Given the description of an element on the screen output the (x, y) to click on. 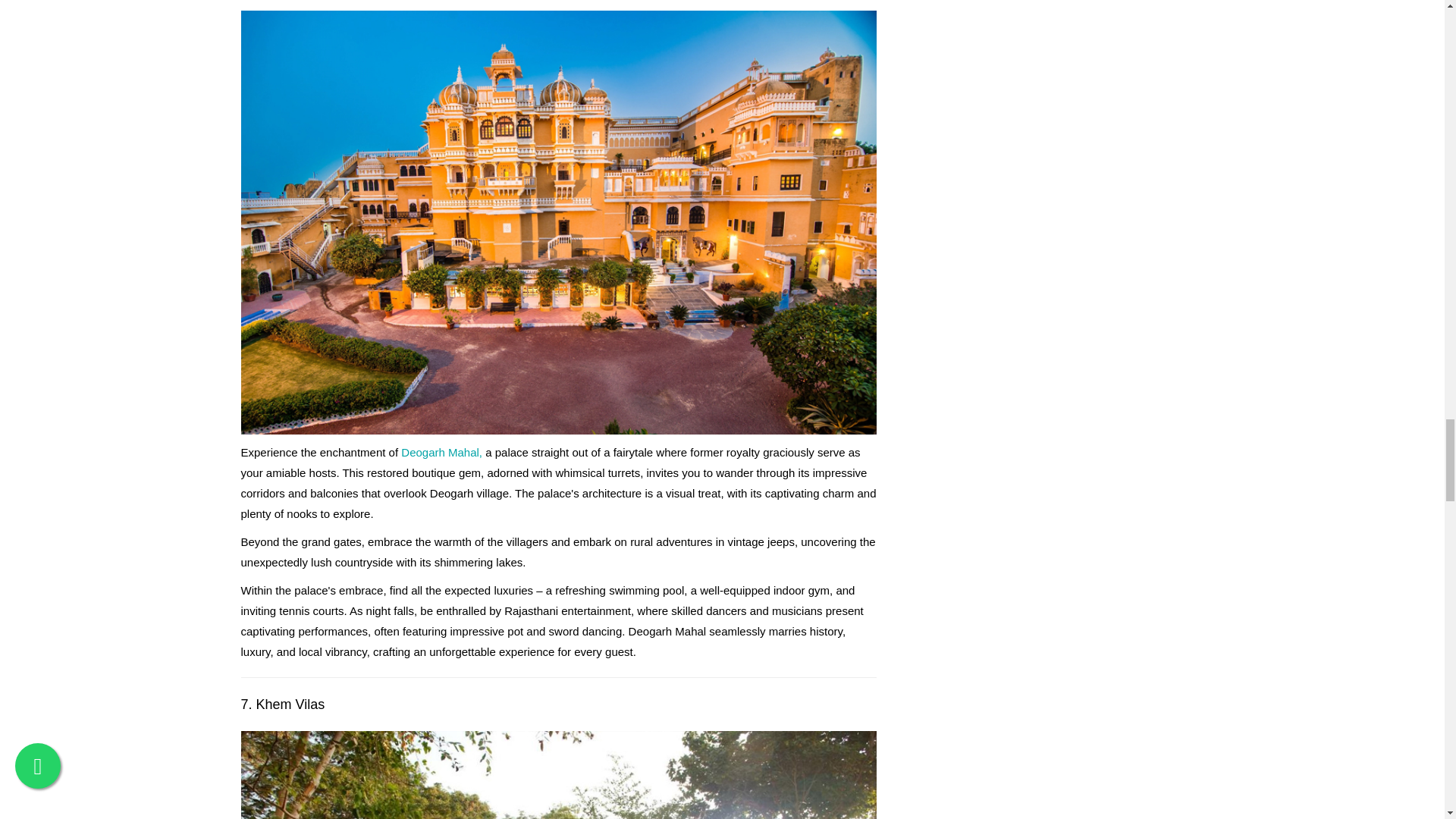
Deogarh Mahal, (441, 451)
